Given the description of an element on the screen output the (x, y) to click on. 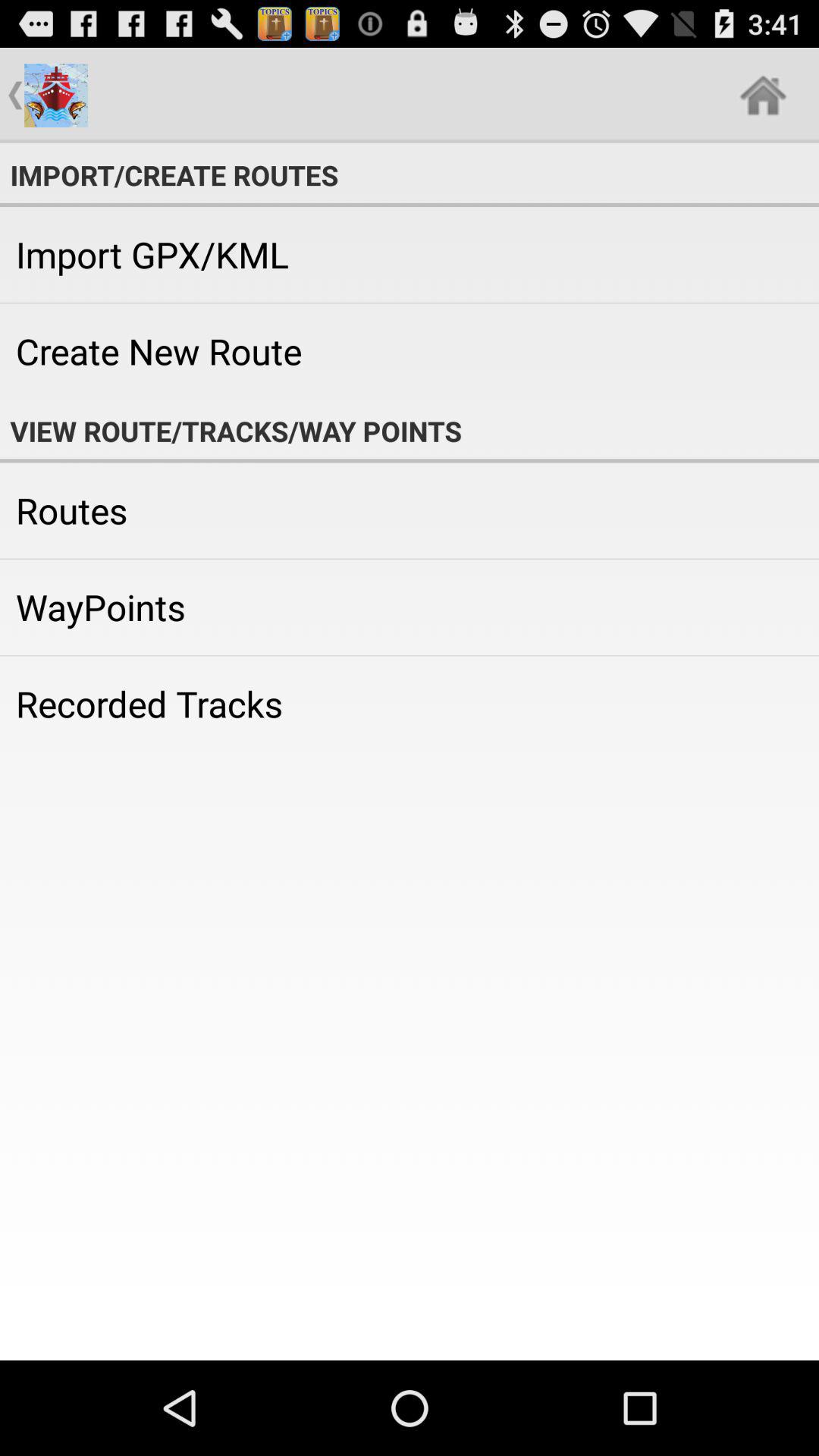
turn off waypoints (409, 607)
